Given the description of an element on the screen output the (x, y) to click on. 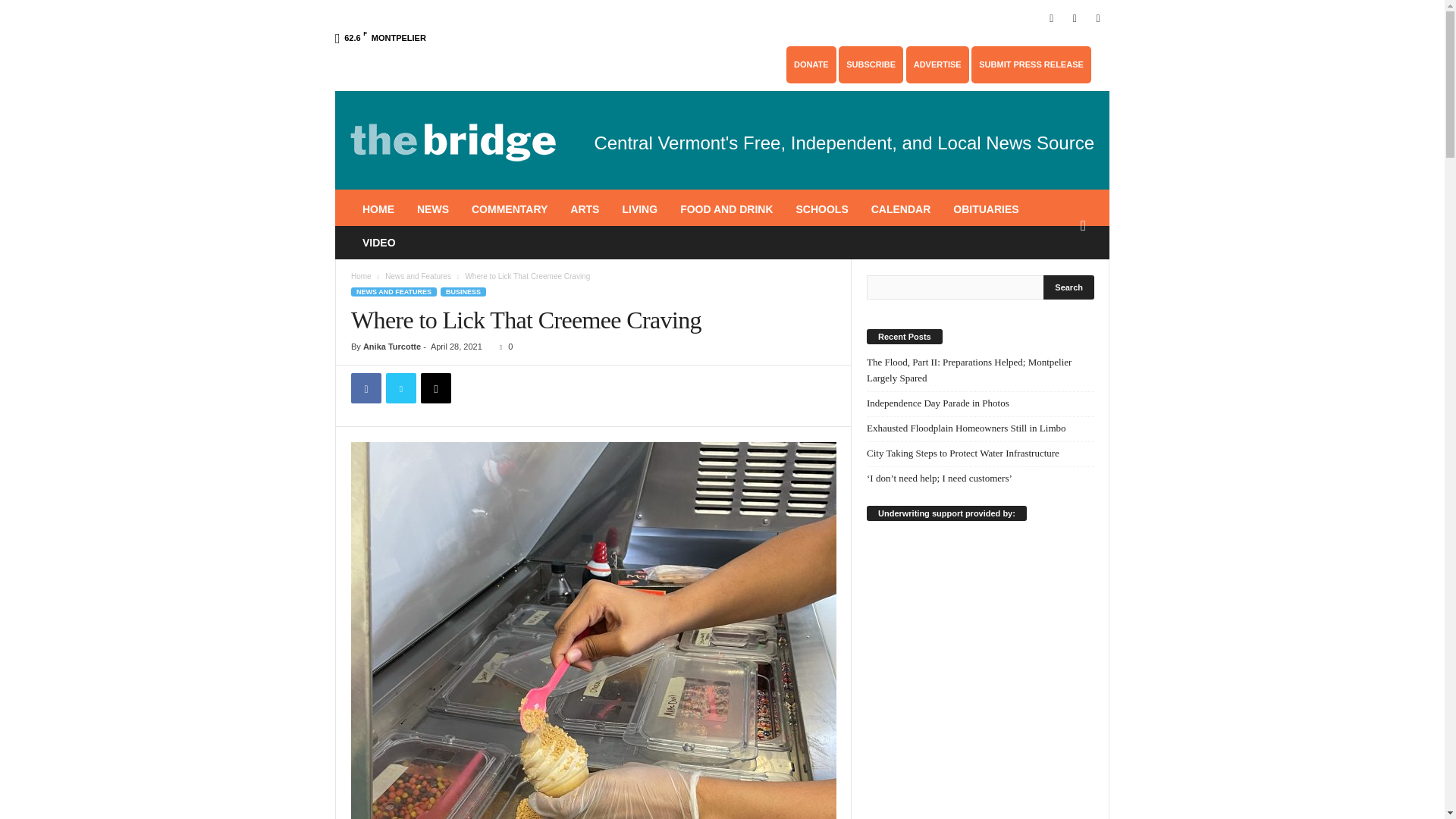
CALENDAR (901, 209)
SCHOOLS (821, 209)
FOOD AND DRINK (726, 209)
DONATE (810, 63)
ARTS (584, 209)
The Montpelier Bridge (453, 140)
View all posts in News and Features (418, 275)
NEWS (433, 209)
SUBSCRIBE (870, 63)
Search (1068, 287)
ADVERTISE (937, 63)
HOME (378, 209)
SUBMIT PRESS RELEASE (1030, 63)
COMMENTARY (509, 209)
LIVING (639, 209)
